Given the description of an element on the screen output the (x, y) to click on. 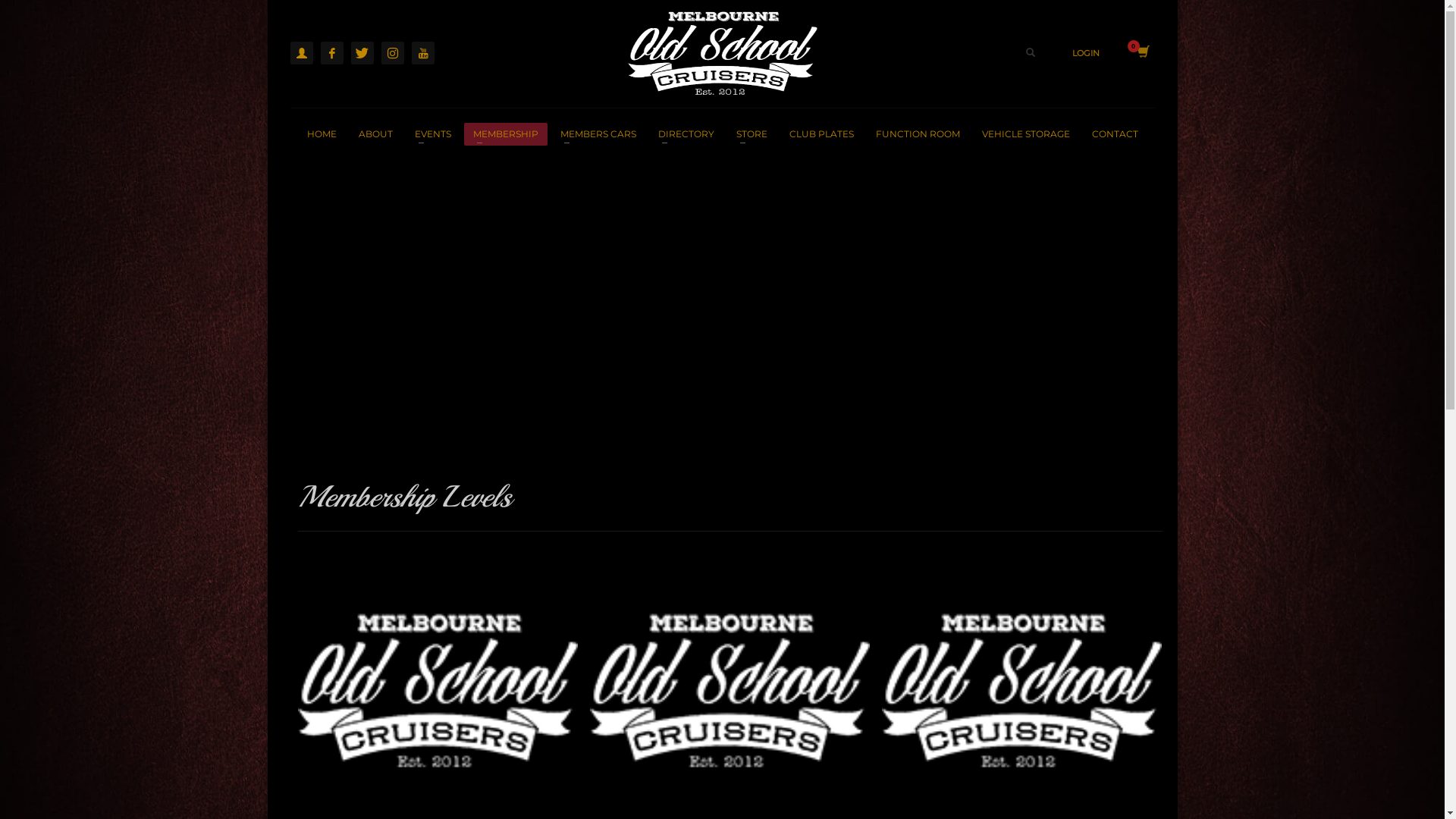
DIRECTORY Element type: text (686, 133)
LOGIN Element type: text (1085, 52)
ABOUT Element type: text (374, 133)
MEMBERS CARS Element type: text (597, 133)
Instagram Element type: hover (391, 51)
Facebook Element type: hover (331, 51)
YouTube Element type: hover (422, 51)
EVENTS Element type: text (431, 133)
CLUB PLATES Element type: text (820, 133)
View your shopping cart Element type: hover (1141, 52)
FUNCTION ROOM Element type: text (917, 133)
STORE Element type: text (750, 133)
HOME Element type: text (321, 133)
VEHICLE STORAGE Element type: text (1025, 133)
MEMBERSHIP Element type: text (505, 133)
CONTACT Element type: text (1114, 133)
Twitter Element type: hover (361, 51)
